Given the description of an element on the screen output the (x, y) to click on. 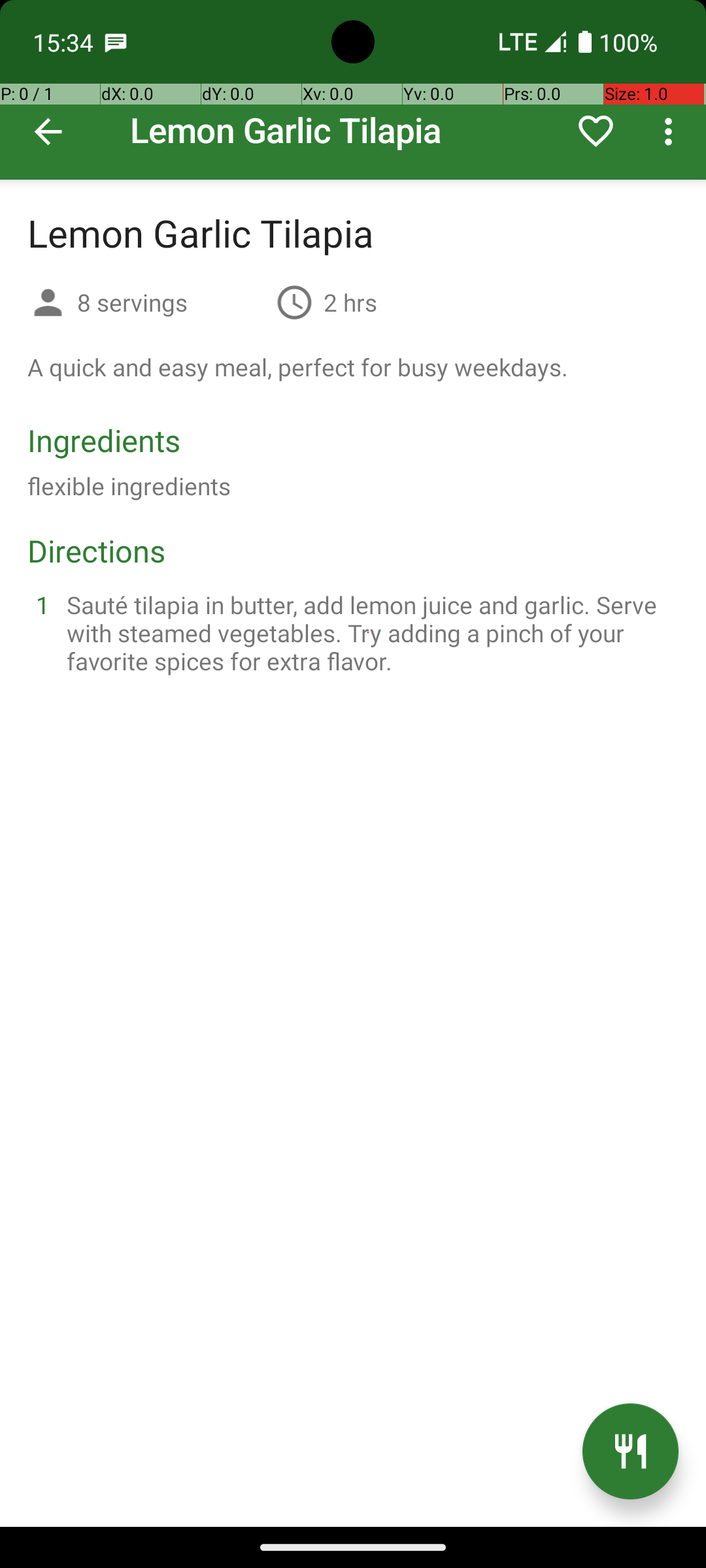
Sauté tilapia in butter, add lemon juice and garlic. Serve with steamed vegetables. Try adding a pinch of your favorite spices for extra flavor. Element type: android.widget.TextView (368, 632)
